Given the description of an element on the screen output the (x, y) to click on. 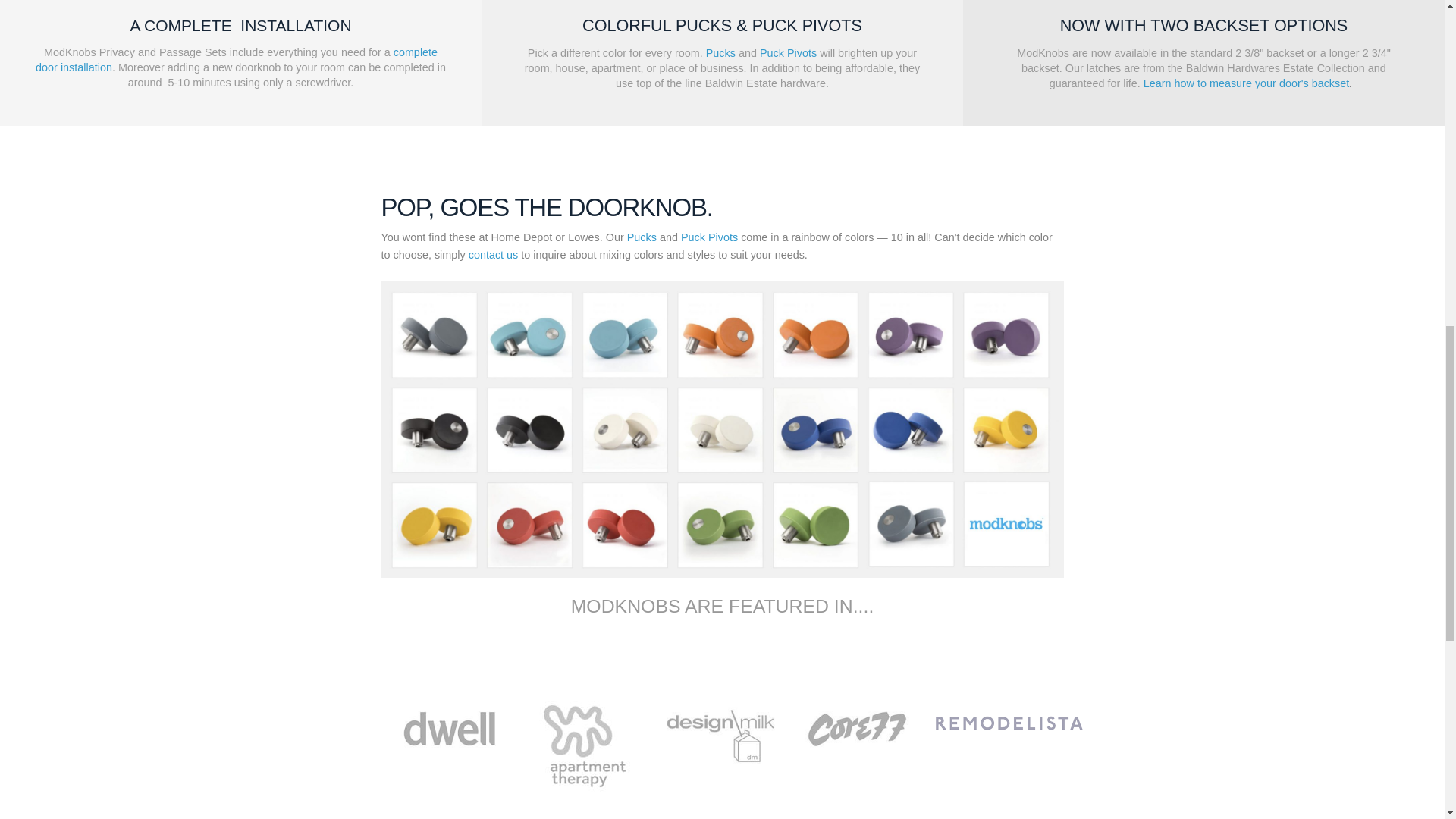
contact us (493, 254)
Puck Pivots (709, 236)
Pucks (641, 236)
Puck Pivots (788, 52)
Pucks (720, 52)
Learn how to measure your door's backset (1245, 82)
complete door installation (236, 59)
